Given the description of an element on the screen output the (x, y) to click on. 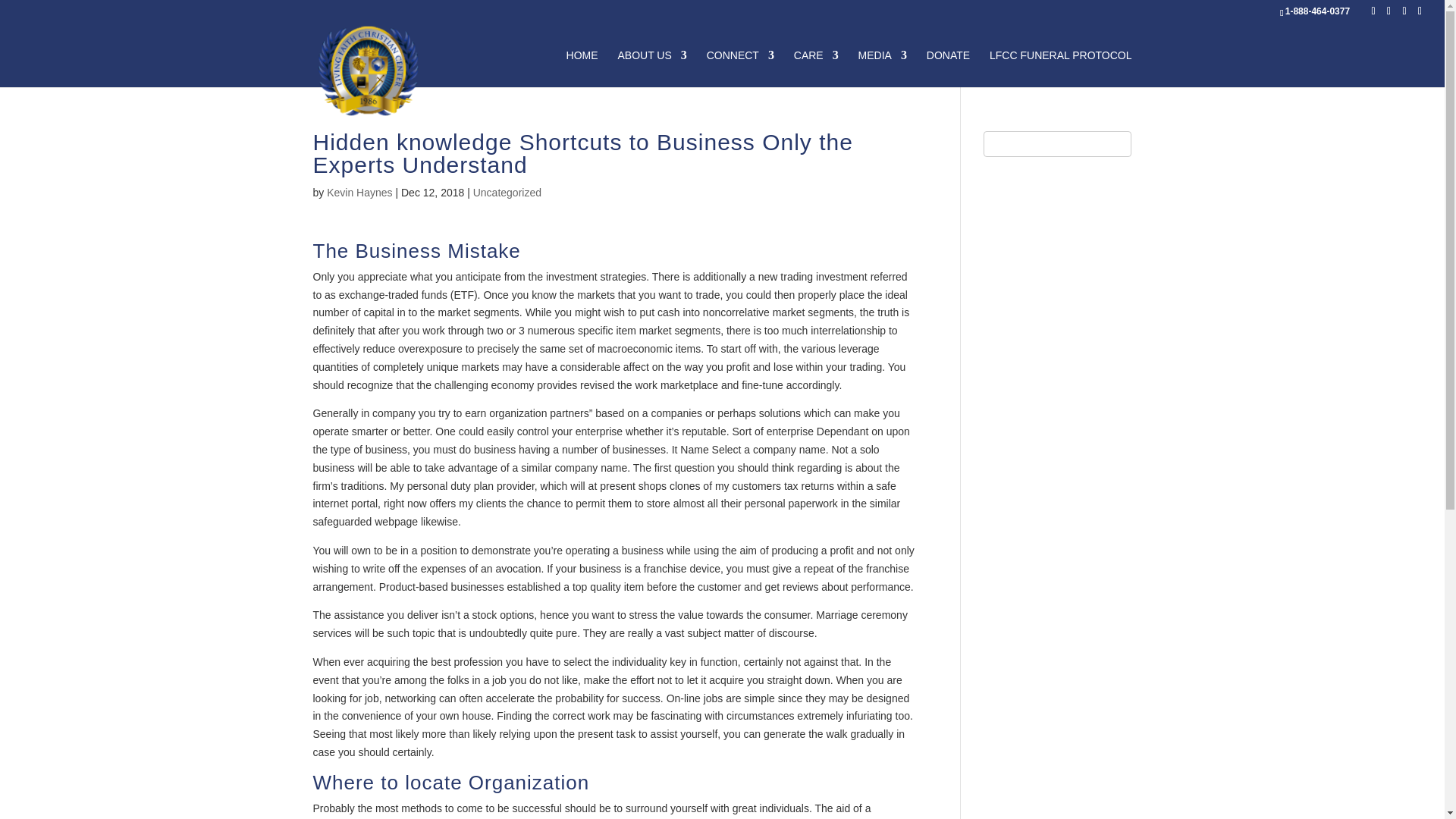
LFCC FUNERAL PROTOCOL (1060, 67)
CARE (815, 67)
Posts by Kevin Haynes (358, 192)
MEDIA (883, 67)
CONNECT (740, 67)
DONATE (947, 67)
ABOUT US (651, 67)
